Given the description of an element on the screen output the (x, y) to click on. 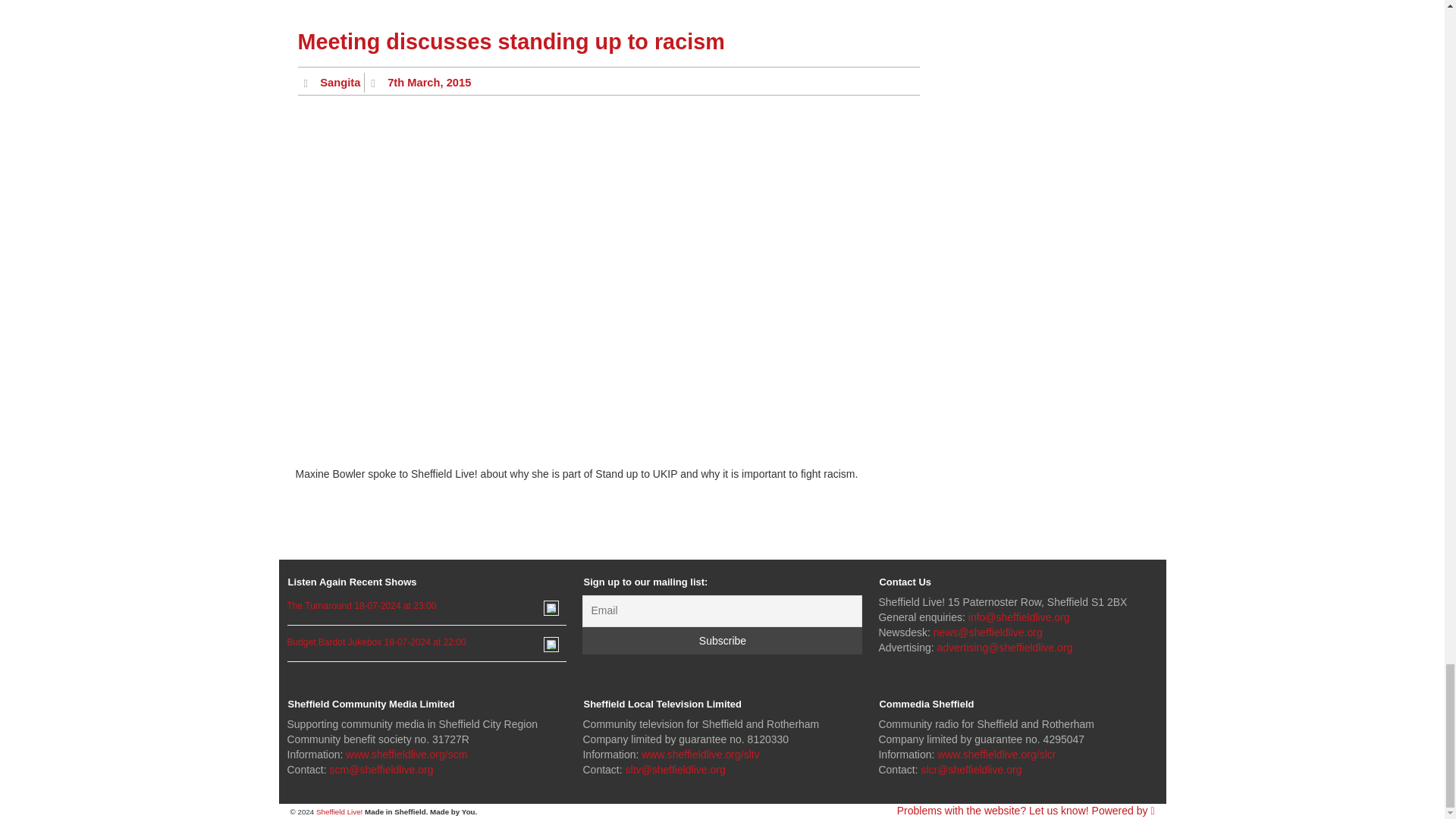
Subscribe (721, 640)
